Given the description of an element on the screen output the (x, y) to click on. 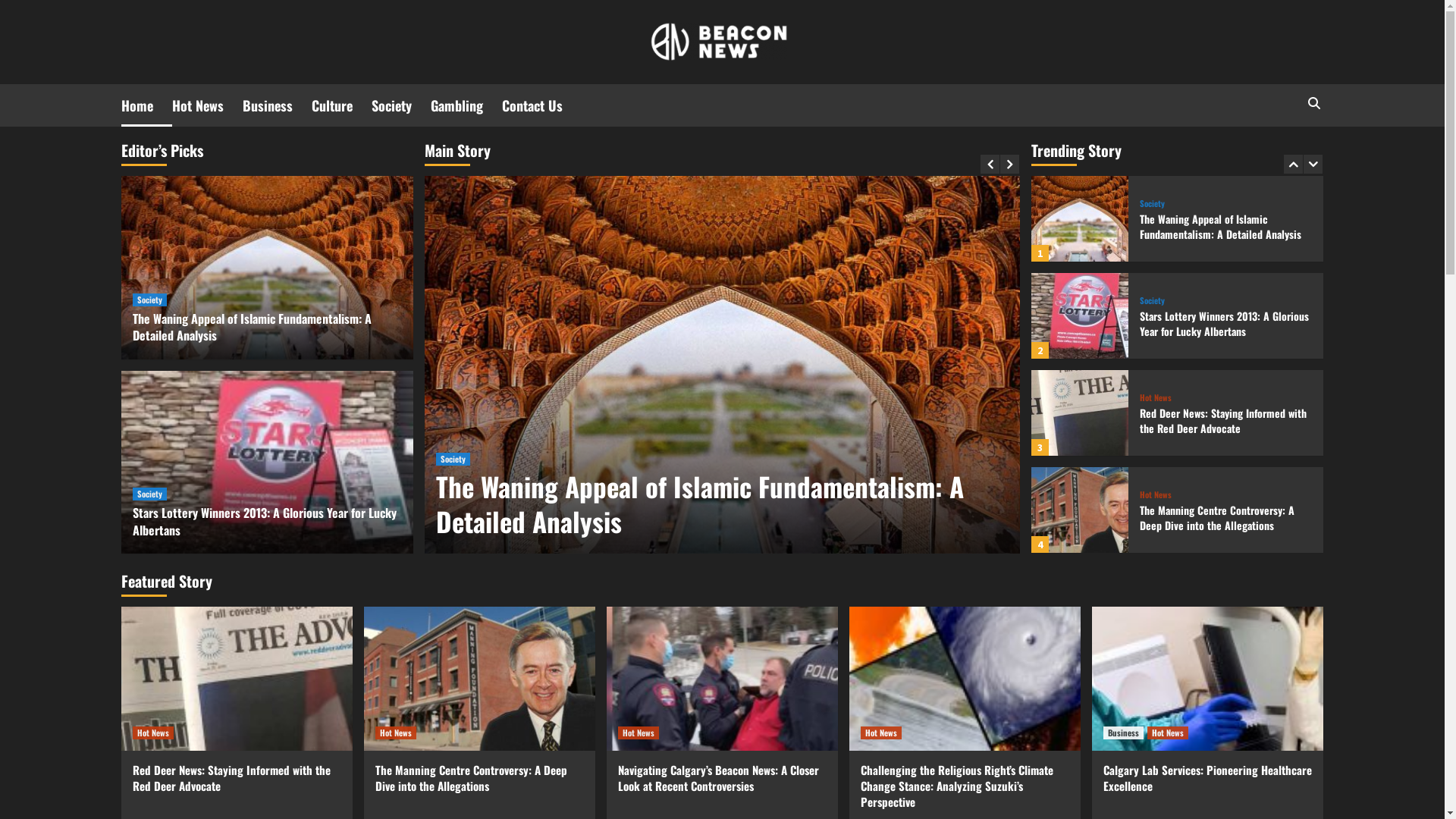
Red Deer News: Staying Informed with the Red Deer Advocate Element type: text (231, 777)
Hot News Element type: text (880, 732)
Society Element type: text (400, 105)
Business Element type: text (276, 105)
Society Element type: text (1151, 300)
Society Element type: text (453, 458)
Society Element type: text (149, 299)
Hot News Element type: text (638, 732)
Society Element type: text (1151, 203)
Hot News Element type: text (1155, 494)
Home Element type: text (146, 105)
Search Element type: text (1278, 150)
Hot News Element type: text (395, 732)
Gambling Element type: text (466, 105)
Hot News Element type: text (1167, 732)
Red Deer News: Staying Informed with the Red Deer Advocate Element type: text (1222, 420)
Hot News Element type: text (152, 732)
Culture Element type: text (341, 105)
Calgary Lab Services: Pioneering Healthcare Excellence Element type: text (1207, 777)
Business Element type: text (1123, 732)
Hot News Element type: text (207, 105)
Hot News Element type: text (1155, 397)
Contact Us Element type: text (541, 105)
Search Element type: hover (1313, 102)
Society Element type: text (149, 493)
